Given the description of an element on the screen output the (x, y) to click on. 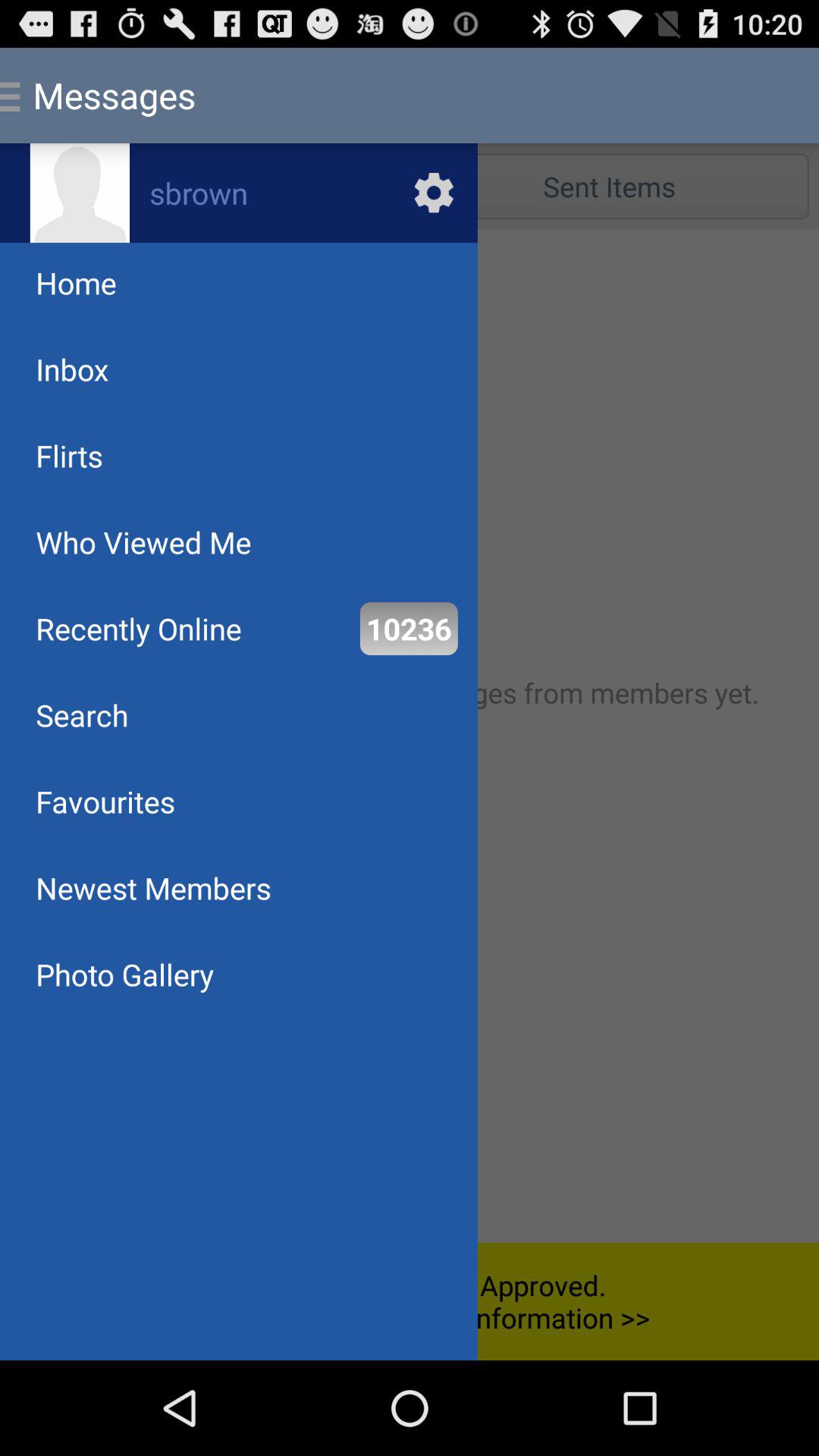
open icon at the top right corner (608, 186)
